Given the description of an element on the screen output the (x, y) to click on. 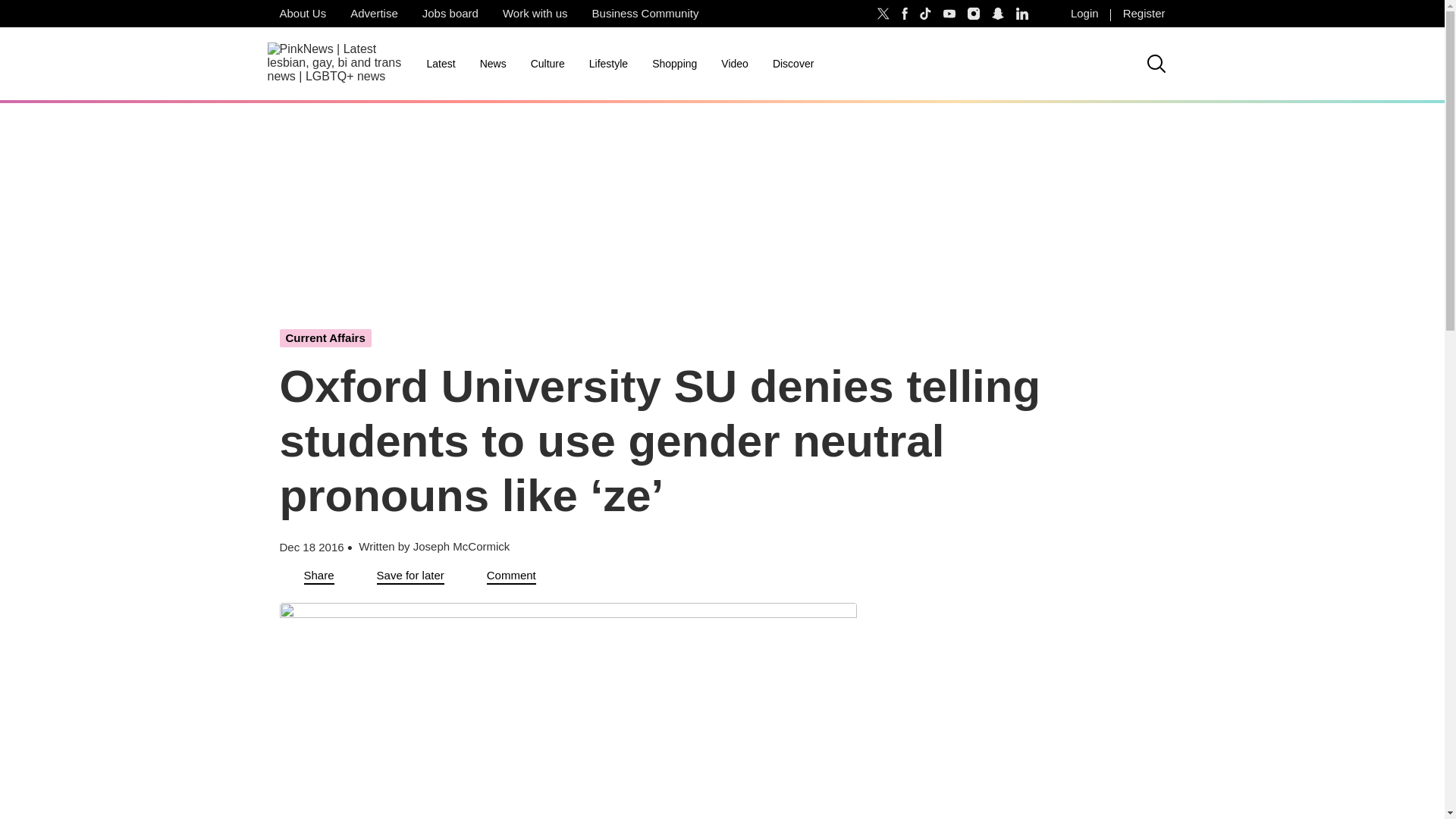
Follow PinkNews on LinkedIn (1021, 13)
Jobs board (450, 13)
Login (1084, 13)
News (493, 63)
About Us (301, 13)
Culture (547, 63)
Register (1143, 13)
Advertise (373, 13)
Latest (440, 63)
Business Community (645, 13)
